Given the description of an element on the screen output the (x, y) to click on. 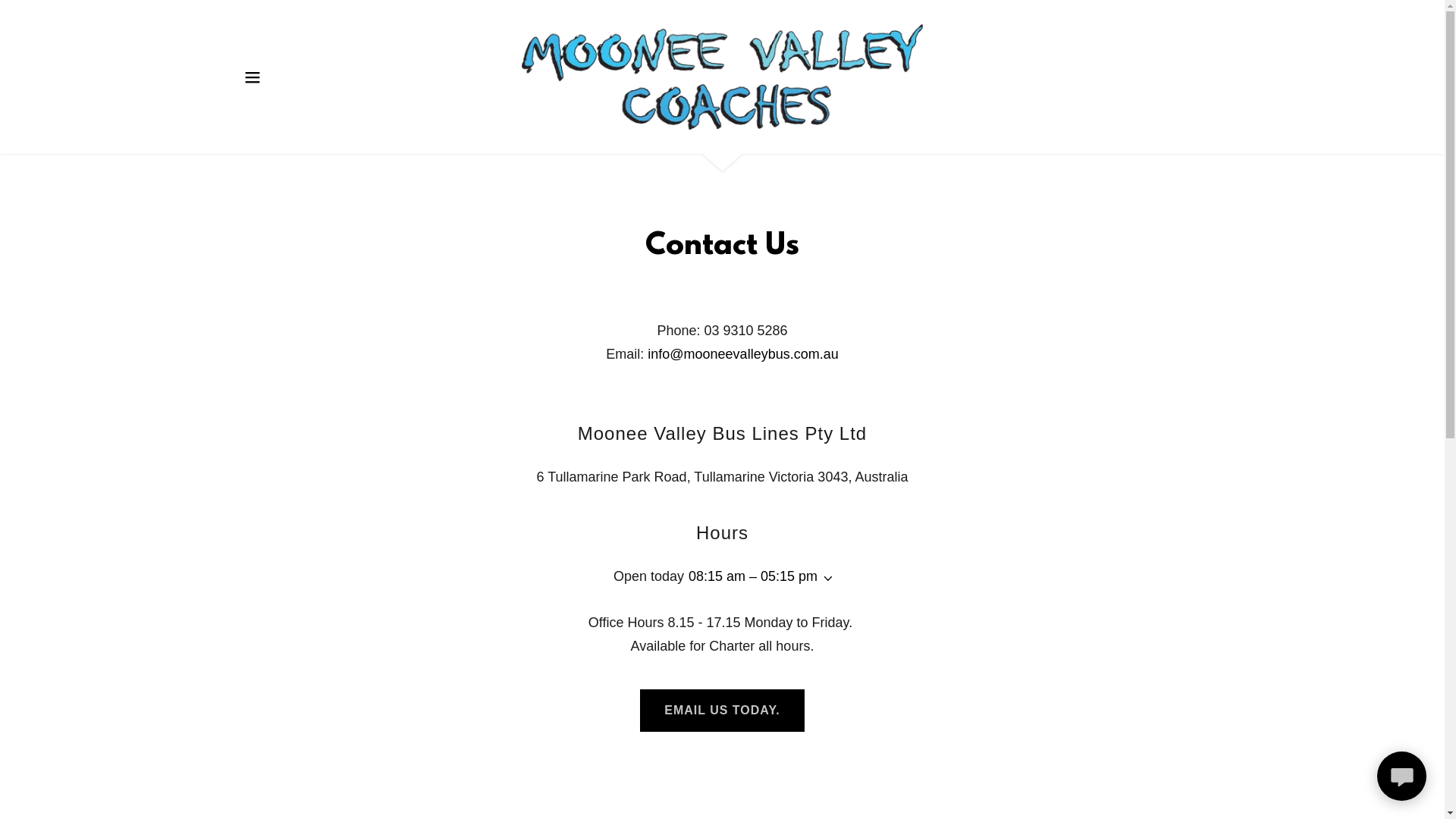
EMAIL US TODAY. Element type: text (722, 710)
info@mooneevalleybus.com.au Element type: text (742, 353)
